Given the description of an element on the screen output the (x, y) to click on. 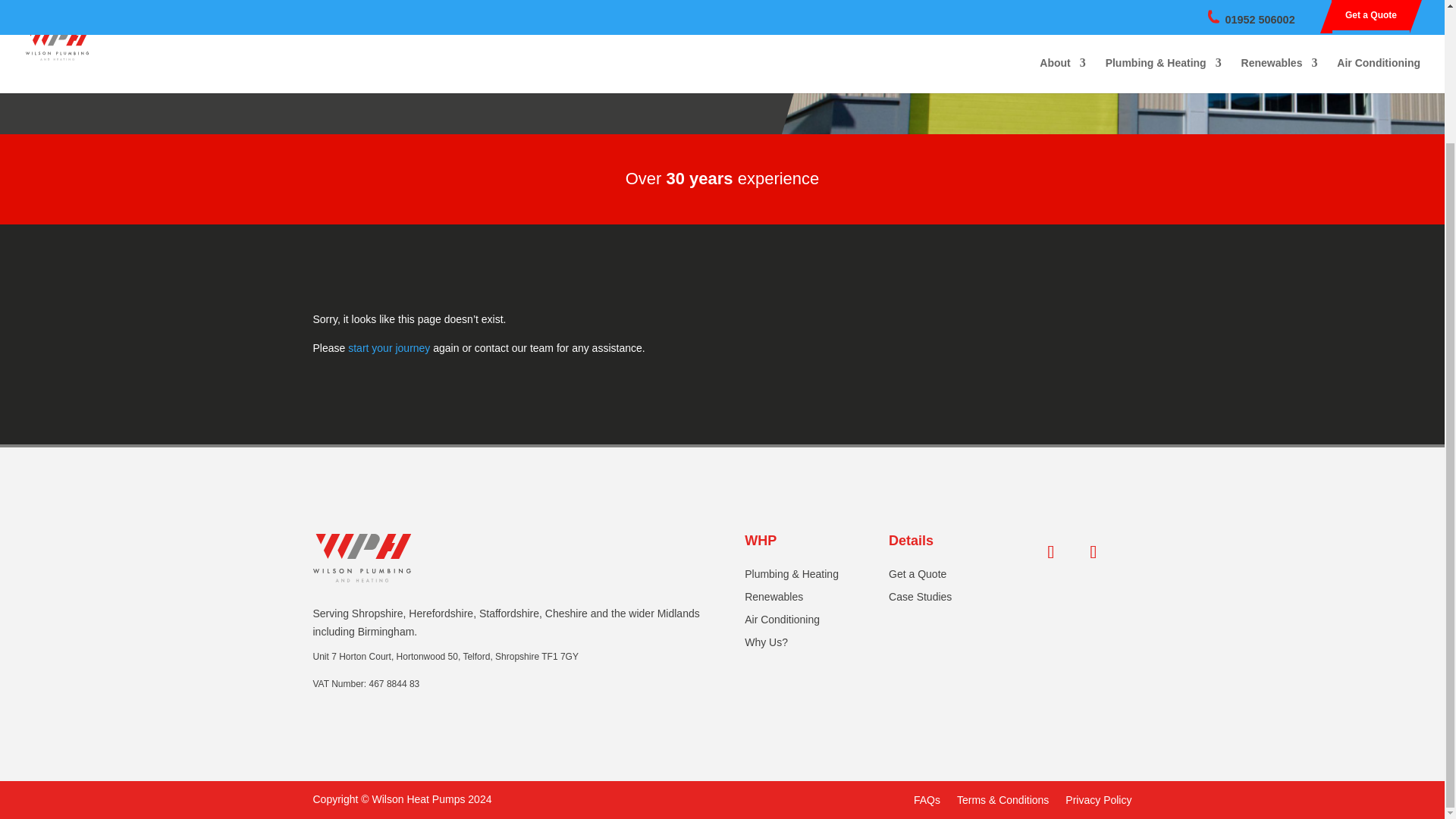
Follow on LinkedIn (1093, 551)
Get a Quote (917, 576)
wph-logo (361, 557)
Case Studies (920, 599)
Renewables (773, 599)
Why Us? (765, 645)
Follow on X (1050, 551)
Air Conditioning (781, 622)
start your journey (388, 347)
